Given the description of an element on the screen output the (x, y) to click on. 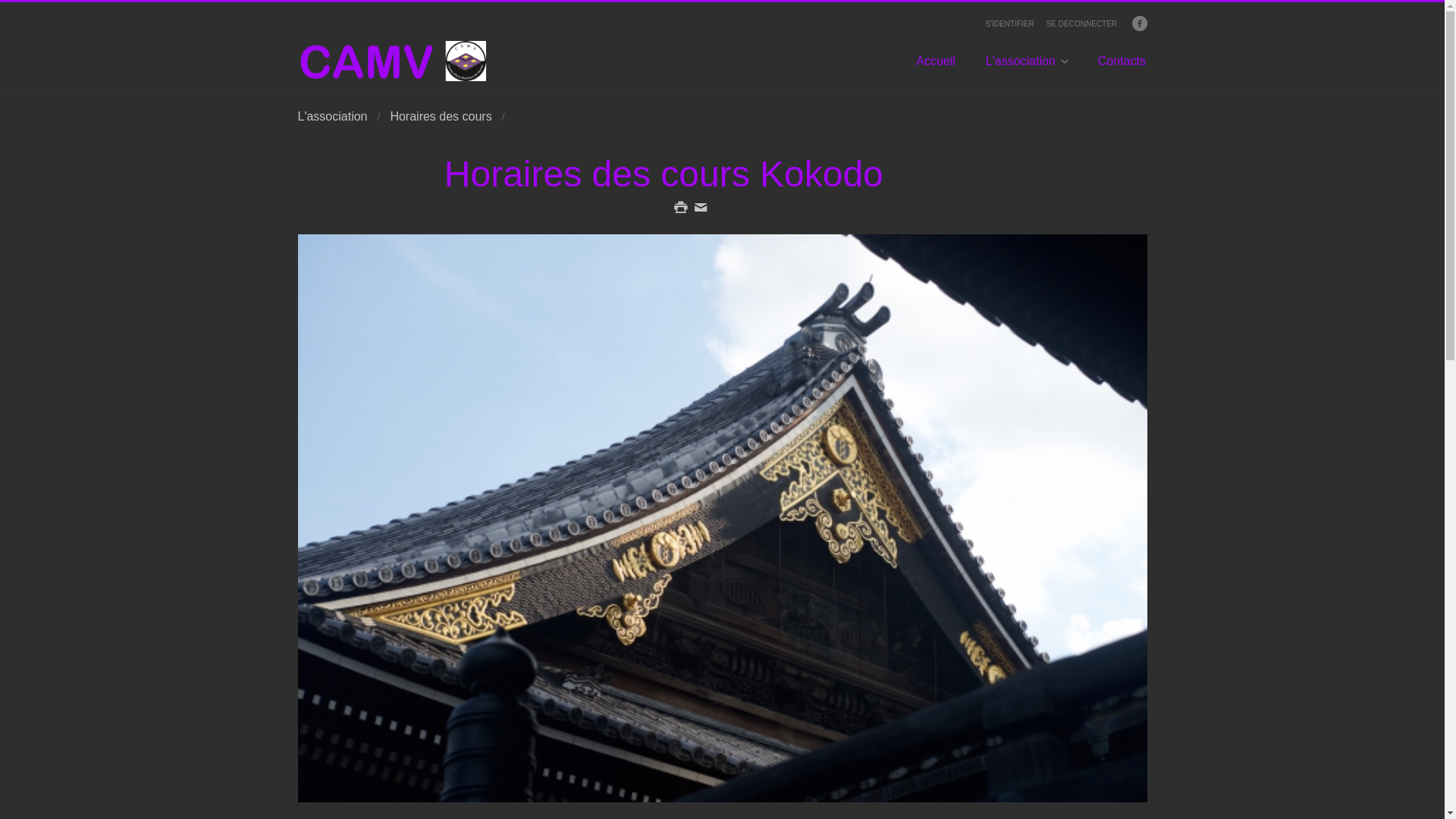
Accueil Element type: text (935, 67)
L'association Element type: text (1026, 68)
Horaires des cours Element type: text (440, 115)
S'IDENTIFIER Element type: text (1009, 23)
Contacts Element type: text (1121, 67)
E-mail Element type: hover (700, 207)
Imprimer Element type: hover (680, 207)
SE DECONNECTER Element type: text (1081, 23)
Facebook Element type: text (1138, 22)
L'association Element type: text (332, 115)
